Given the description of an element on the screen output the (x, y) to click on. 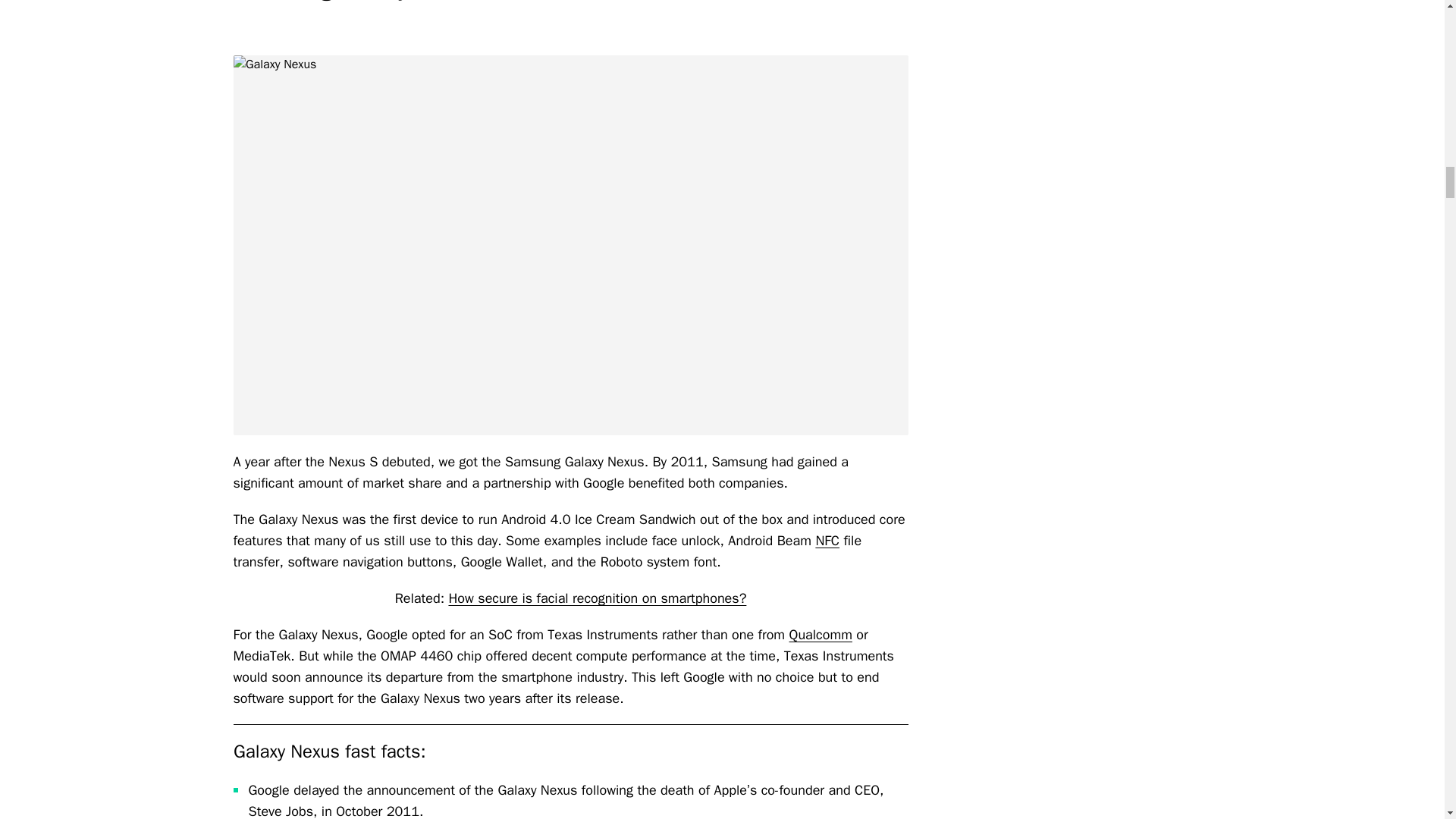
NFC (827, 540)
Qualcomm (820, 634)
How secure is facial recognition on smartphones? (596, 597)
